Given the description of an element on the screen output the (x, y) to click on. 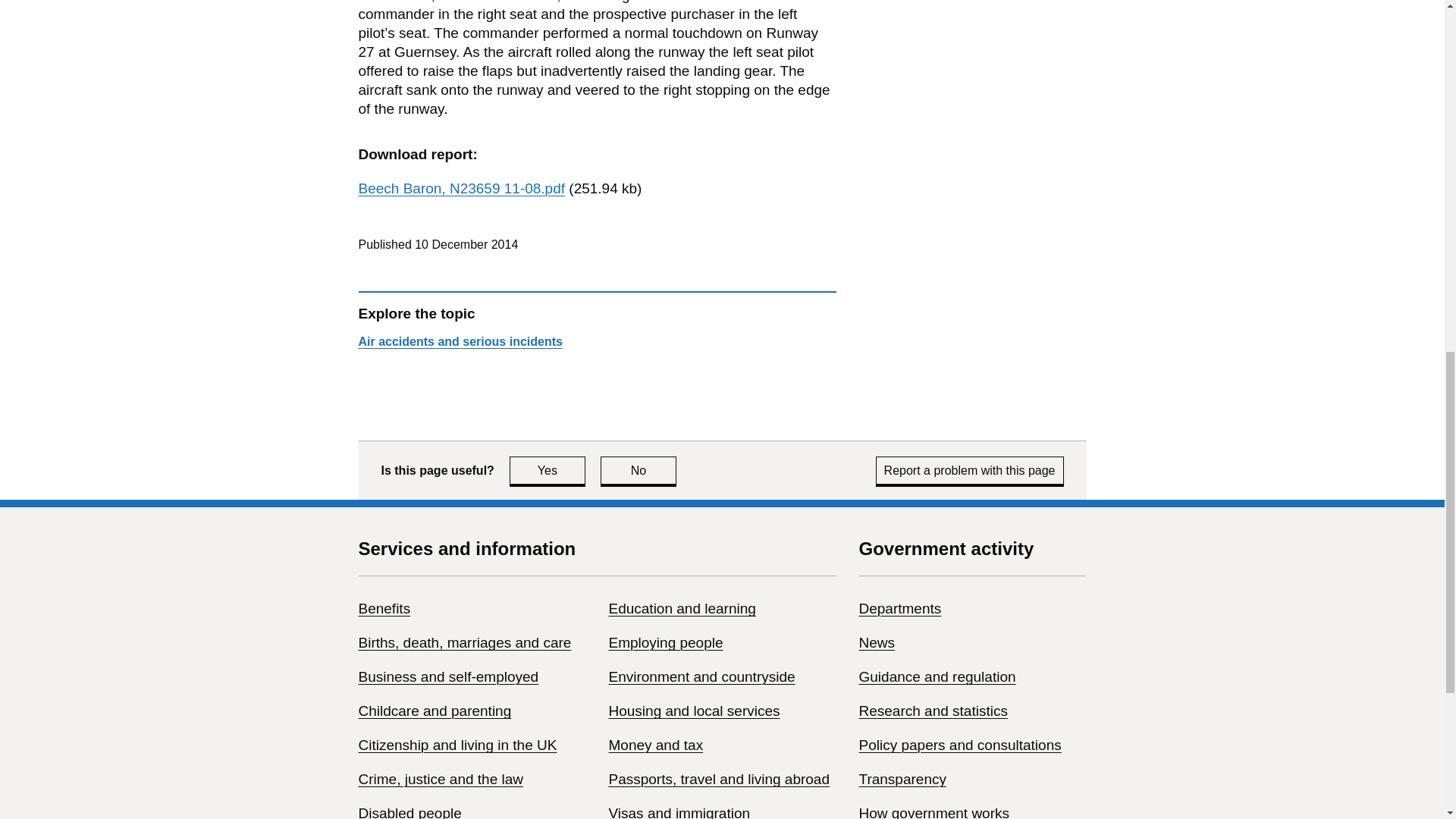
Passports, travel and living abroad (718, 779)
News (877, 642)
Transparency (901, 779)
Beech Baron, N23659 11-08.pdf (461, 188)
Departments (899, 608)
Disabled people (409, 812)
Report a problem with this page (970, 470)
Guidance and regulation (936, 676)
Housing and local services (693, 710)
Money and tax (655, 744)
